Given the description of an element on the screen output the (x, y) to click on. 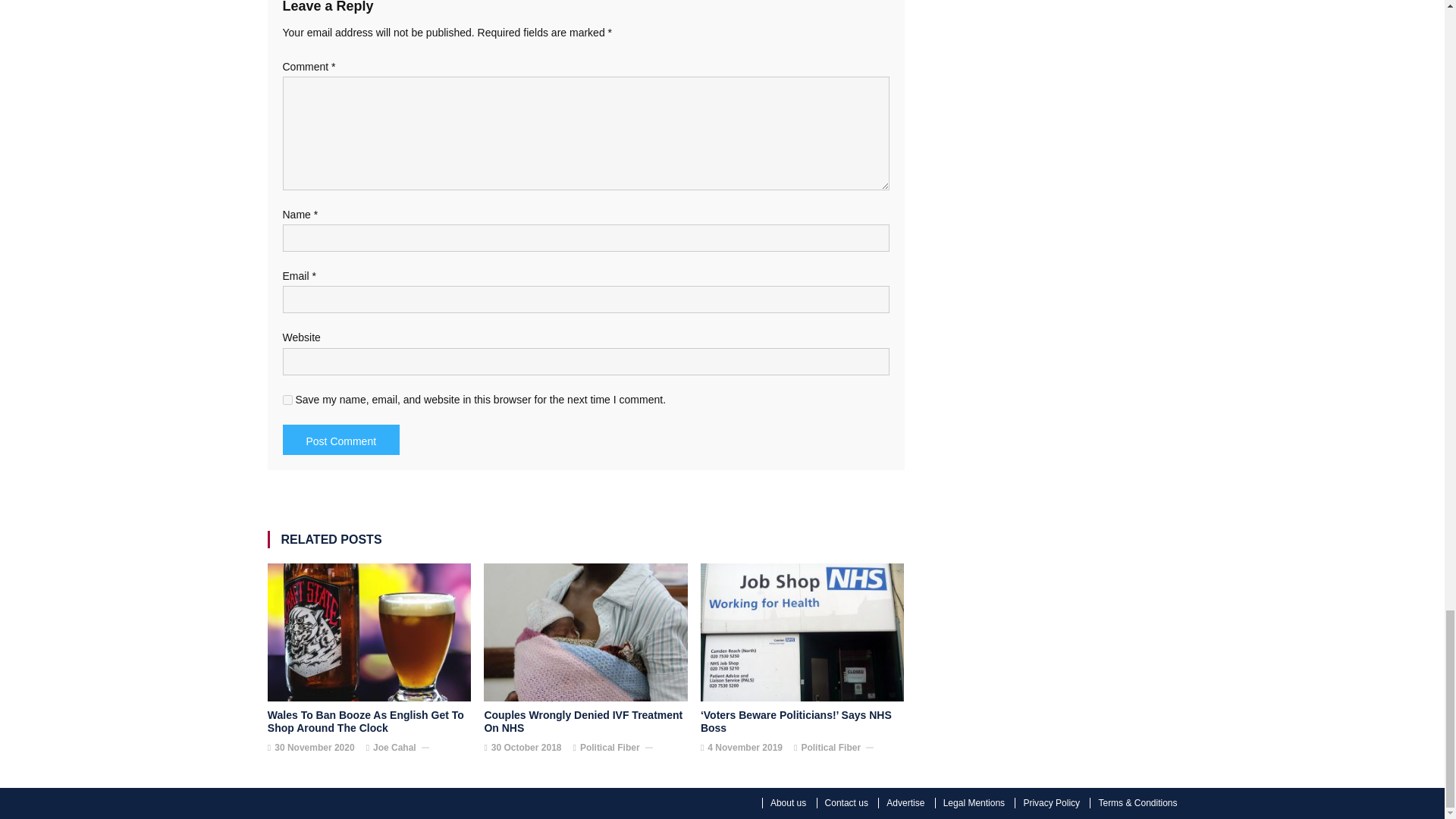
30 October 2018 (527, 748)
30 November 2020 (314, 748)
Post Comment (340, 440)
yes (287, 399)
Wales To Ban Booze As English Get To Shop Around The Clock (368, 721)
Post Comment (340, 440)
Couples Wrongly Denied IVF Treatment On NHS (585, 721)
Joe Cahal (394, 748)
